Given the description of an element on the screen output the (x, y) to click on. 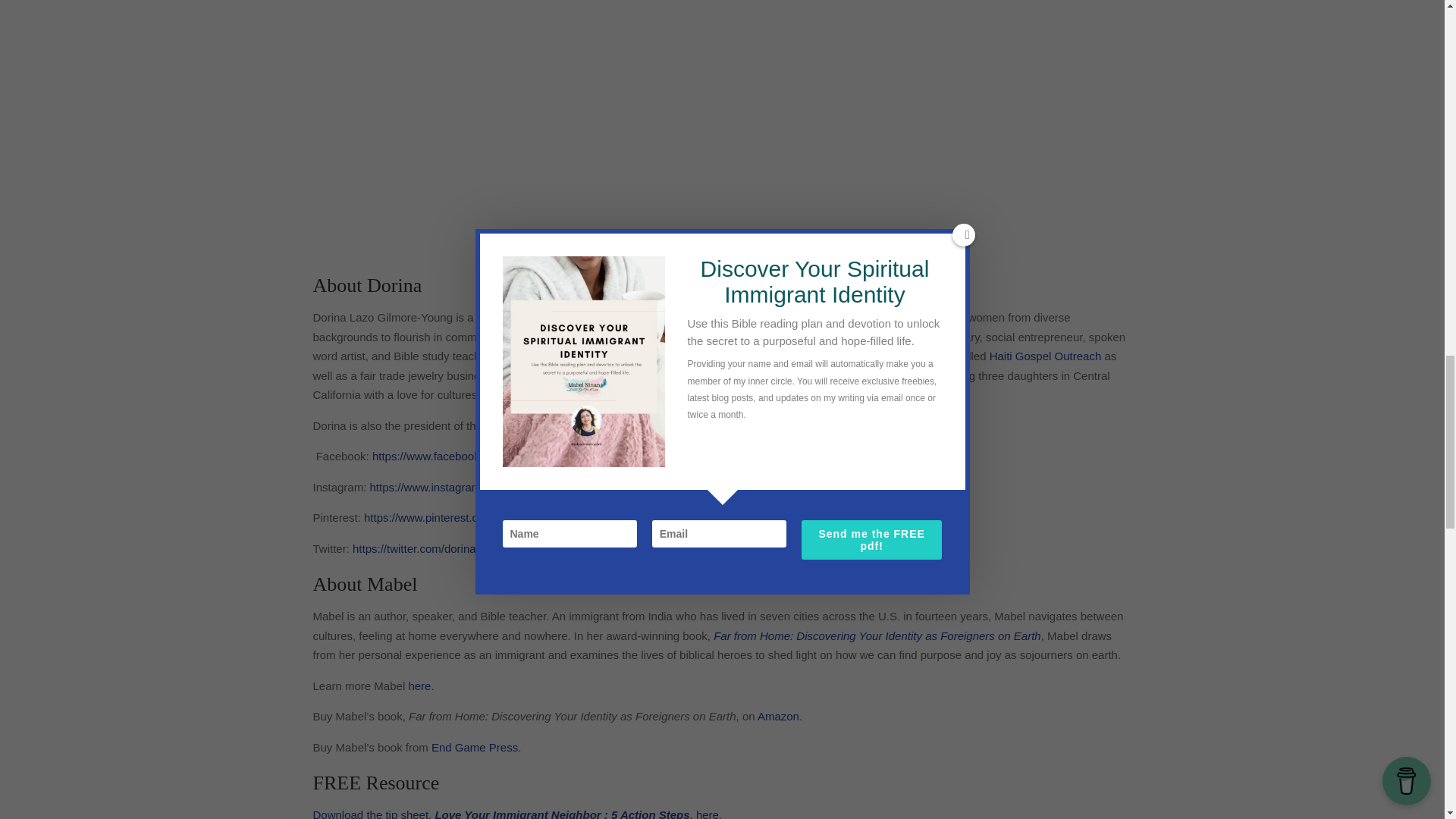
Haiti Gospel Outreach (1042, 355)
The Haitian Bead Project (588, 375)
